Given the description of an element on the screen output the (x, y) to click on. 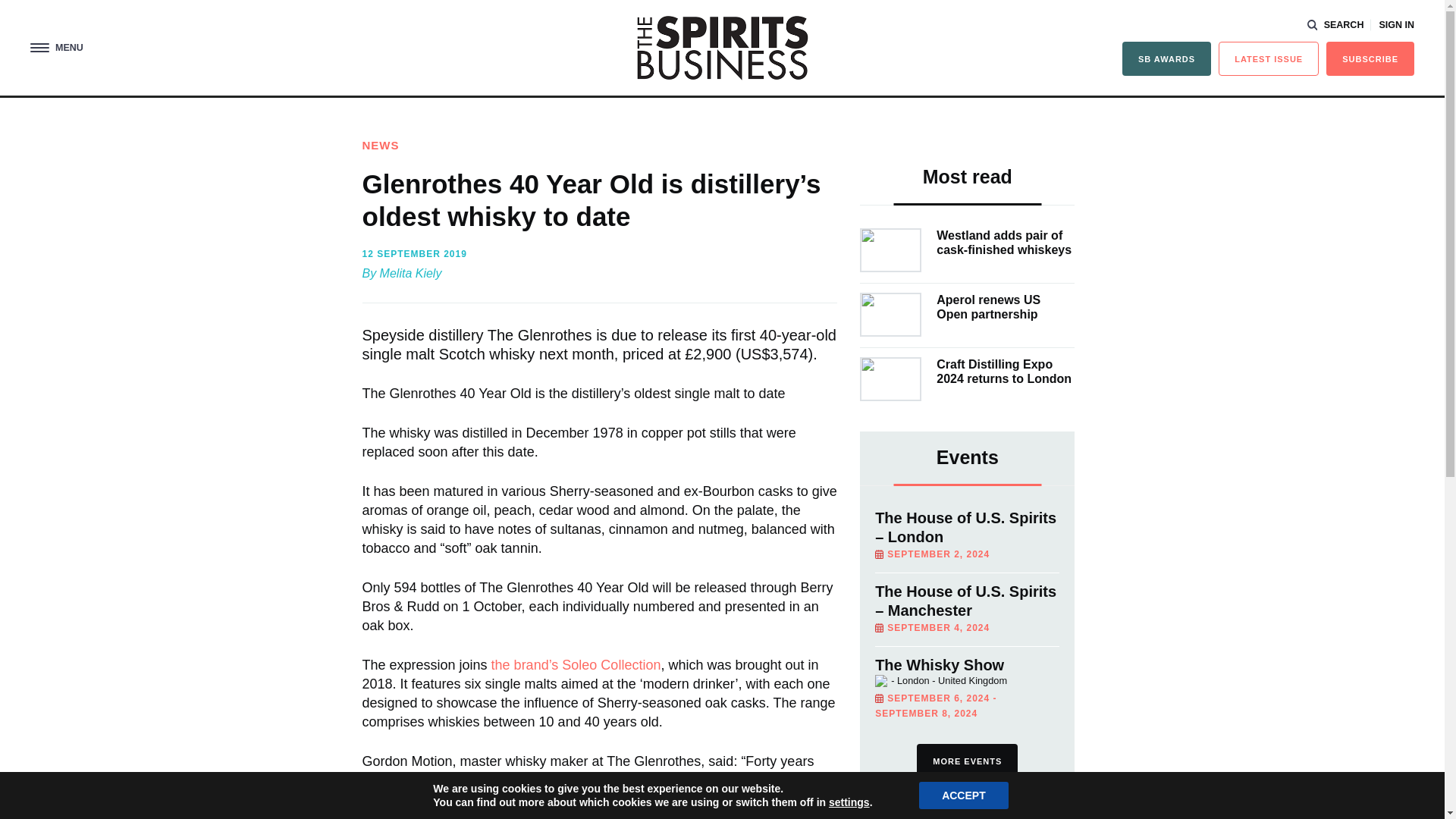
LATEST ISSUE (1268, 58)
The Spirits Business (722, 47)
SUBSCRIBE (1369, 58)
SB AWARDS (1166, 58)
SIGN IN (1395, 25)
